Given the description of an element on the screen output the (x, y) to click on. 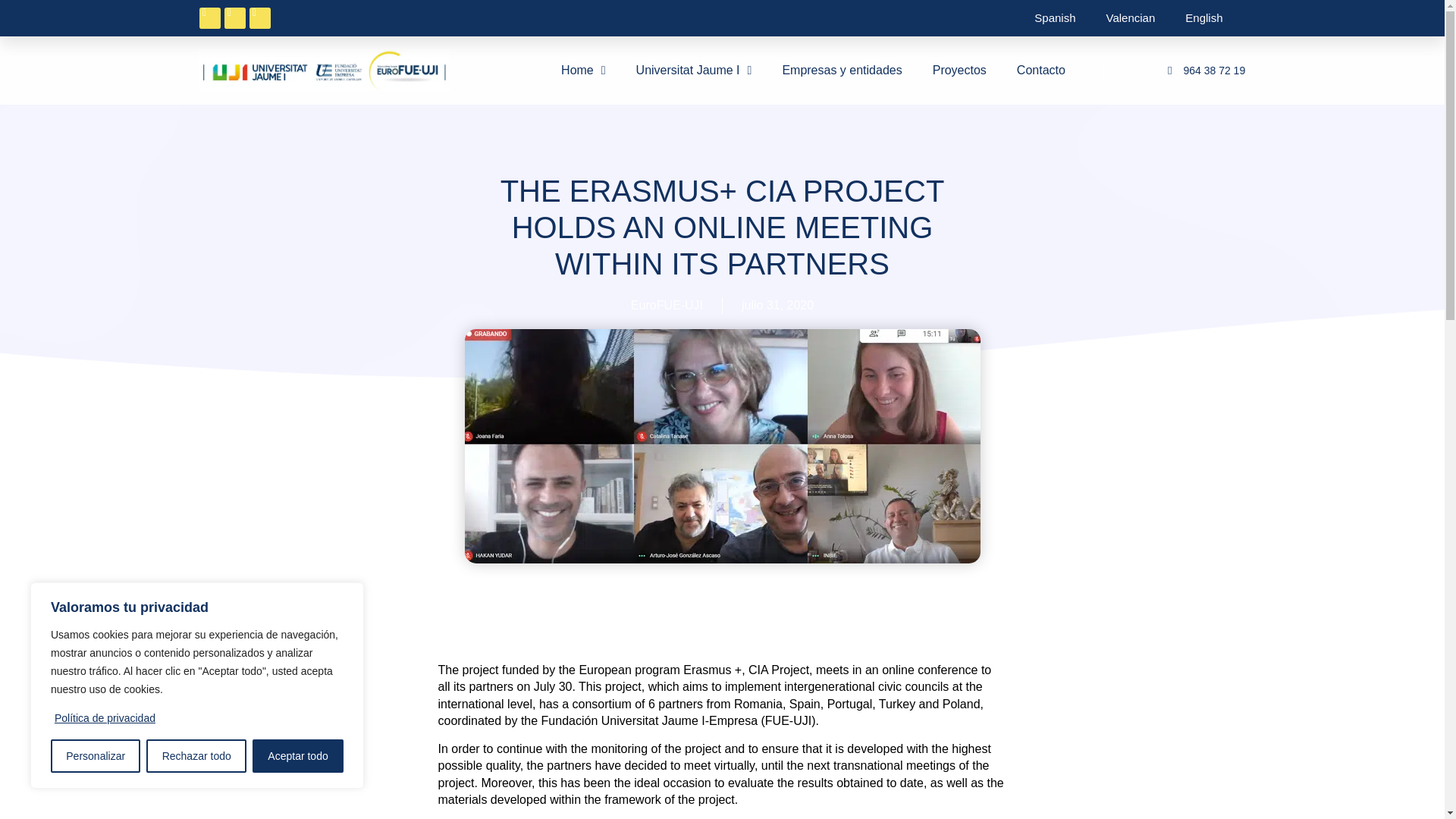
Valencian (1130, 18)
English (1203, 18)
Rechazar todo (196, 756)
Spanish (1054, 18)
Personalizar (94, 756)
Aceptar todo (297, 756)
